Given the description of an element on the screen output the (x, y) to click on. 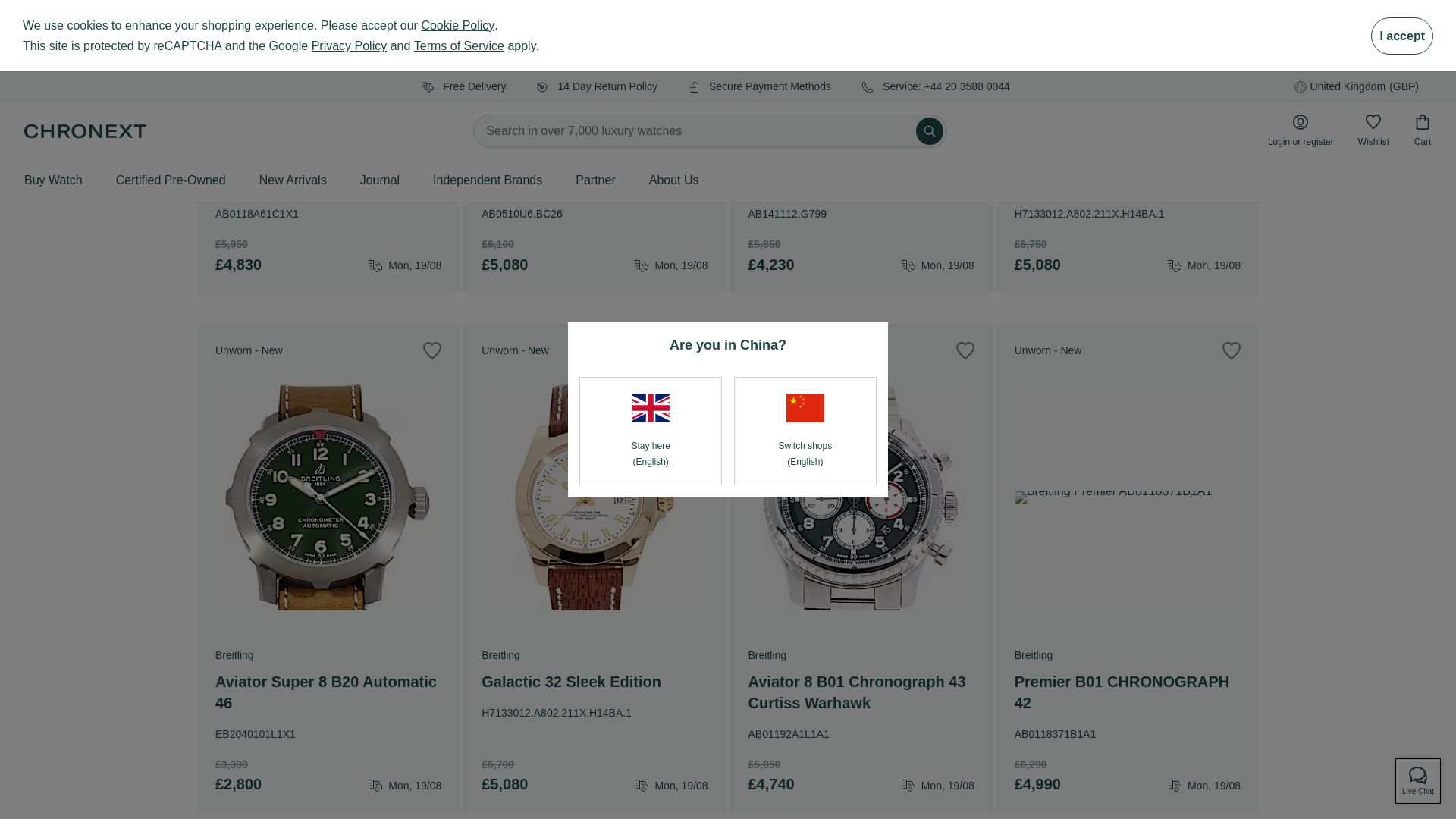
Breitling Galactic H7133012.A802.211X.H14BA.1  (1127, 55)
Unworn - New (328, 146)
Breitling Transocean AB141112.G799  (861, 55)
Breitling Premier AB0118A61C1X1  (328, 55)
Unworn - New (860, 146)
Unworn - New (594, 146)
Breitling Transocean AB0510U6.BC26  (594, 55)
